Given the description of an element on the screen output the (x, y) to click on. 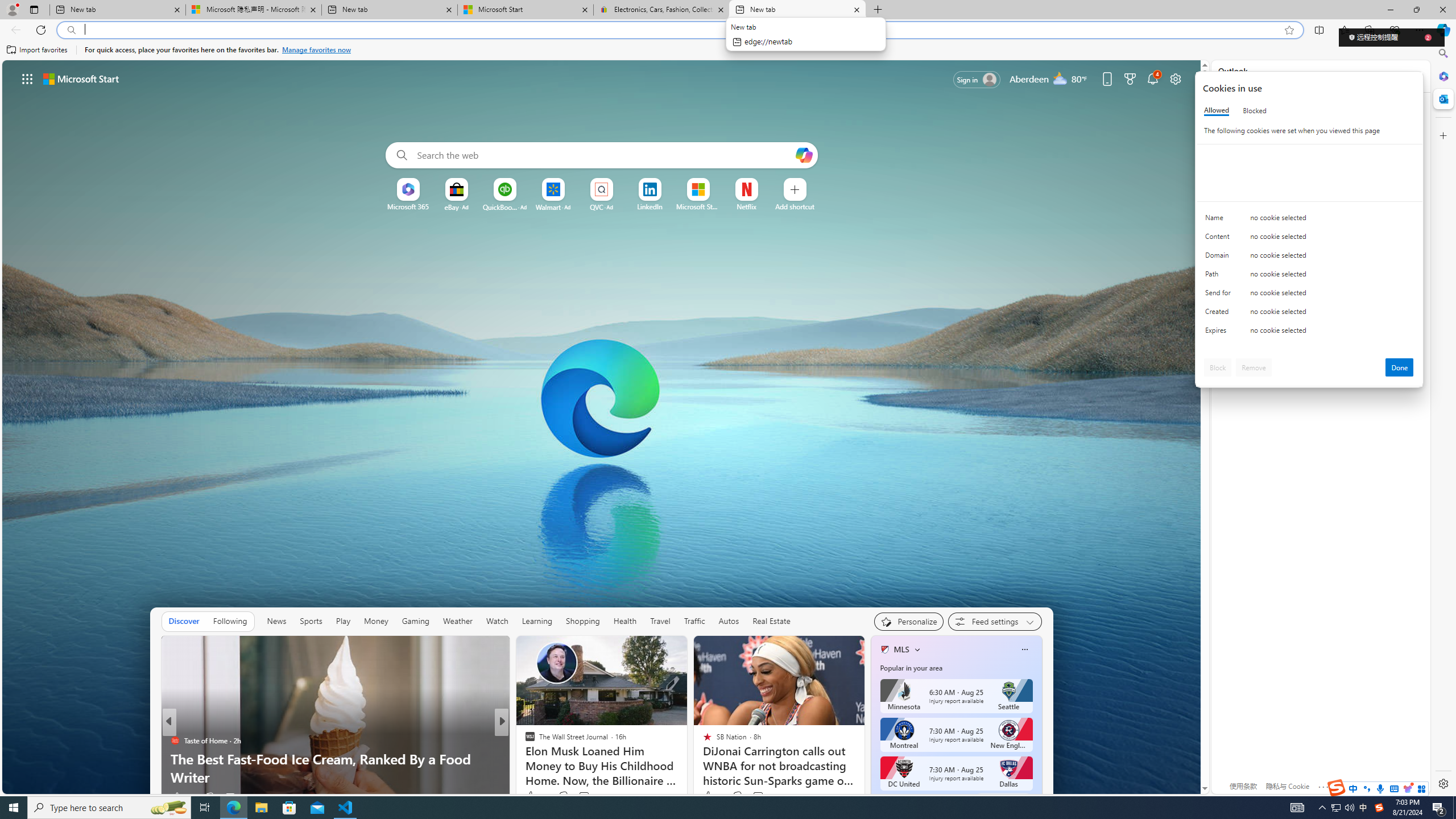
10 Like (712, 795)
More interests (917, 649)
View comments 5 Comment (580, 797)
View comments 13 Comment (585, 796)
View comments 22 Comment (580, 797)
MLS (901, 649)
Travel (660, 621)
Click to sign into Microsoft Edge (977, 79)
To get missing image descriptions, open the context menu. (407, 189)
Money (375, 621)
